Given the description of an element on the screen output the (x, y) to click on. 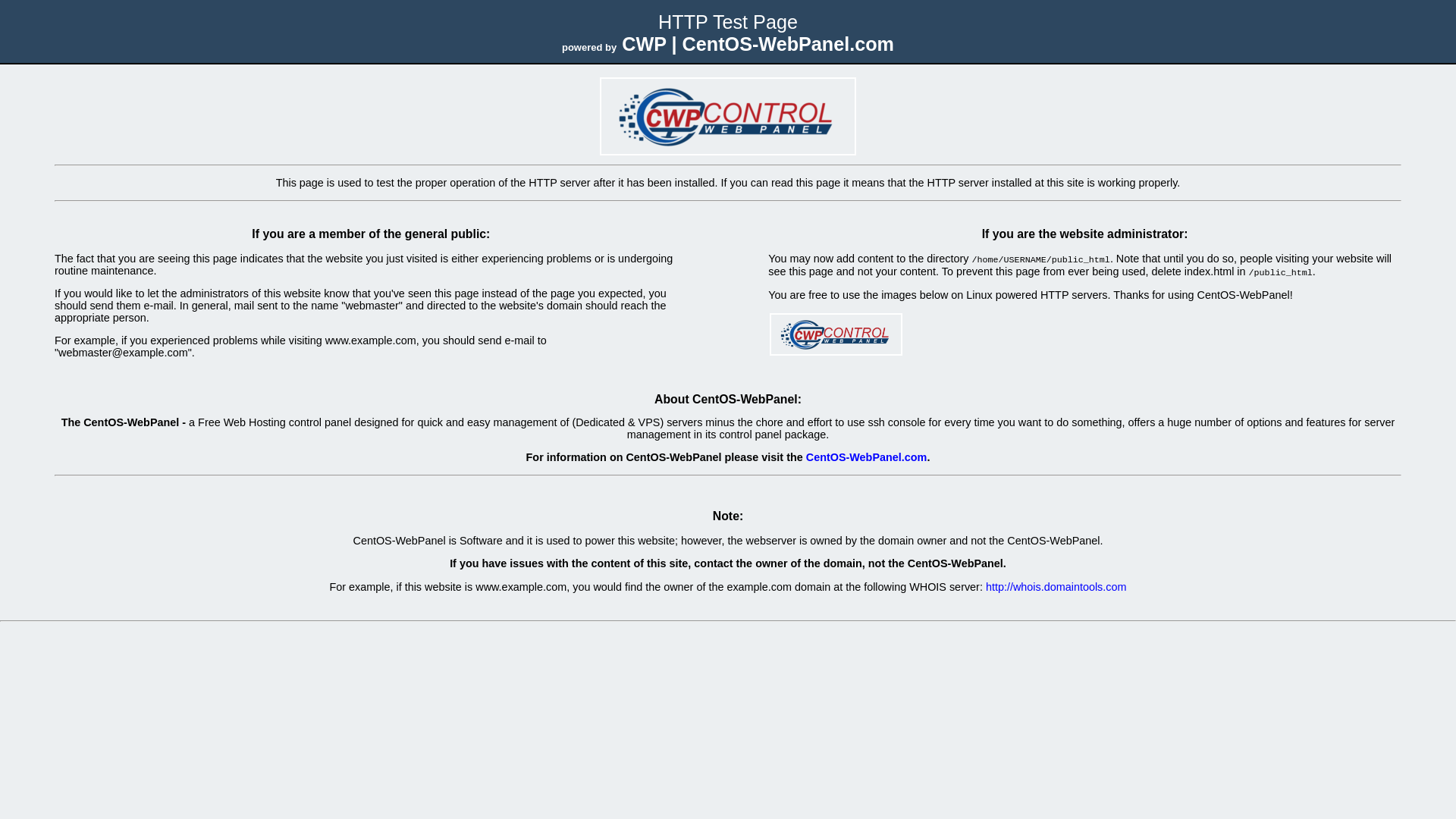
http://whois.domaintools.com Element type: text (1055, 586)
CentOS-WebPanel.com Element type: text (866, 457)
